Given the description of an element on the screen output the (x, y) to click on. 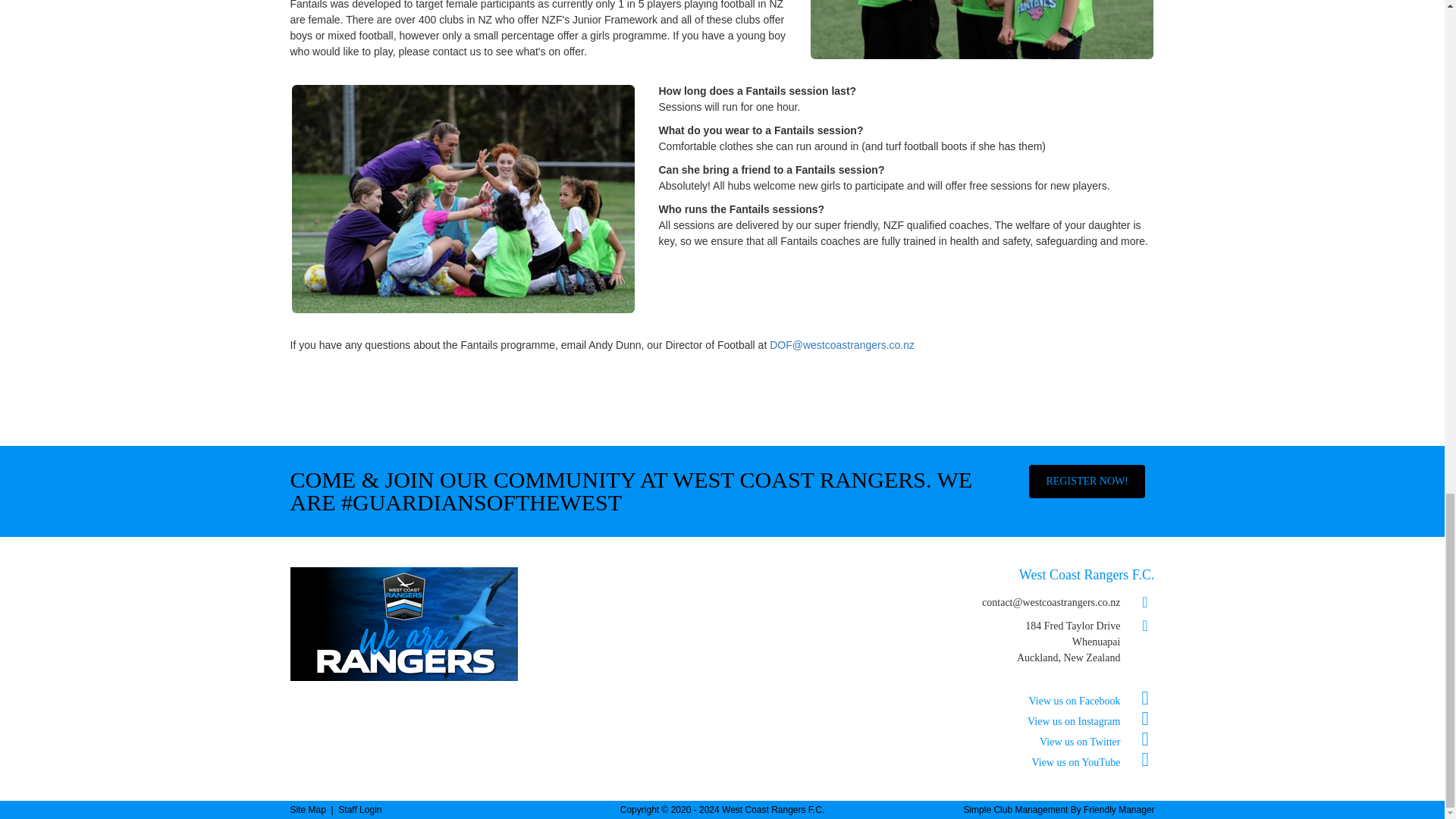
Login to West Coast Rangers F.C. (359, 809)
View us on Facebook (1091, 700)
View us on Instagram (1090, 721)
View us on Twitter (1096, 741)
View the Site Map for West Coast Rangers F.C. (306, 809)
View us on YouTube (1093, 762)
